Given the description of an element on the screen output the (x, y) to click on. 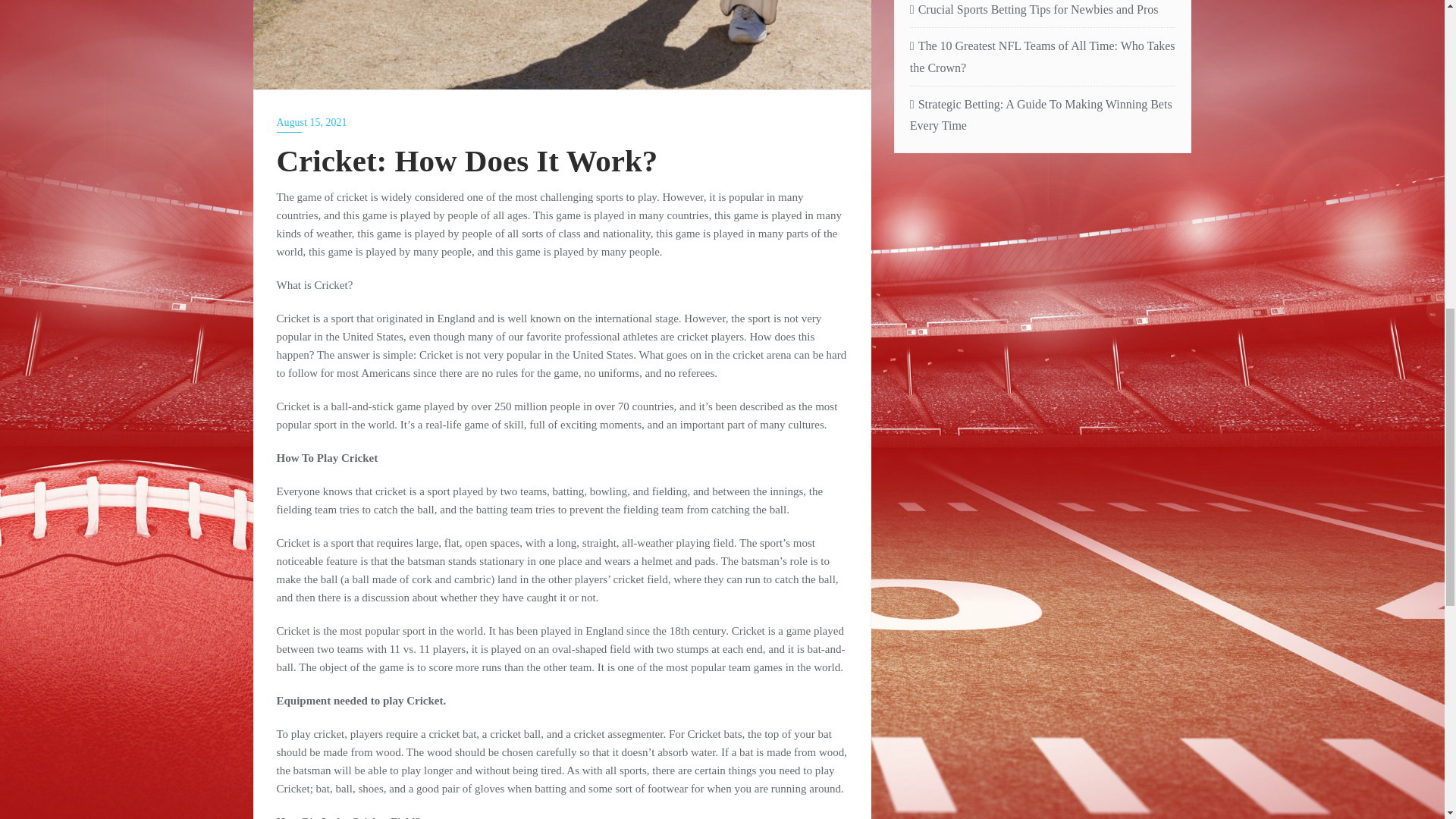
Crucial Sports Betting Tips for Newbies and Pros (1043, 10)
The 10 Greatest NFL Teams of All Time: Who Takes the Crown? (1043, 57)
Strategic Betting: A Guide To Making Winning Bets Every Time (1043, 116)
August 15, 2021 (561, 121)
Cricket: How Does It Work? (561, 44)
